Given the description of an element on the screen output the (x, y) to click on. 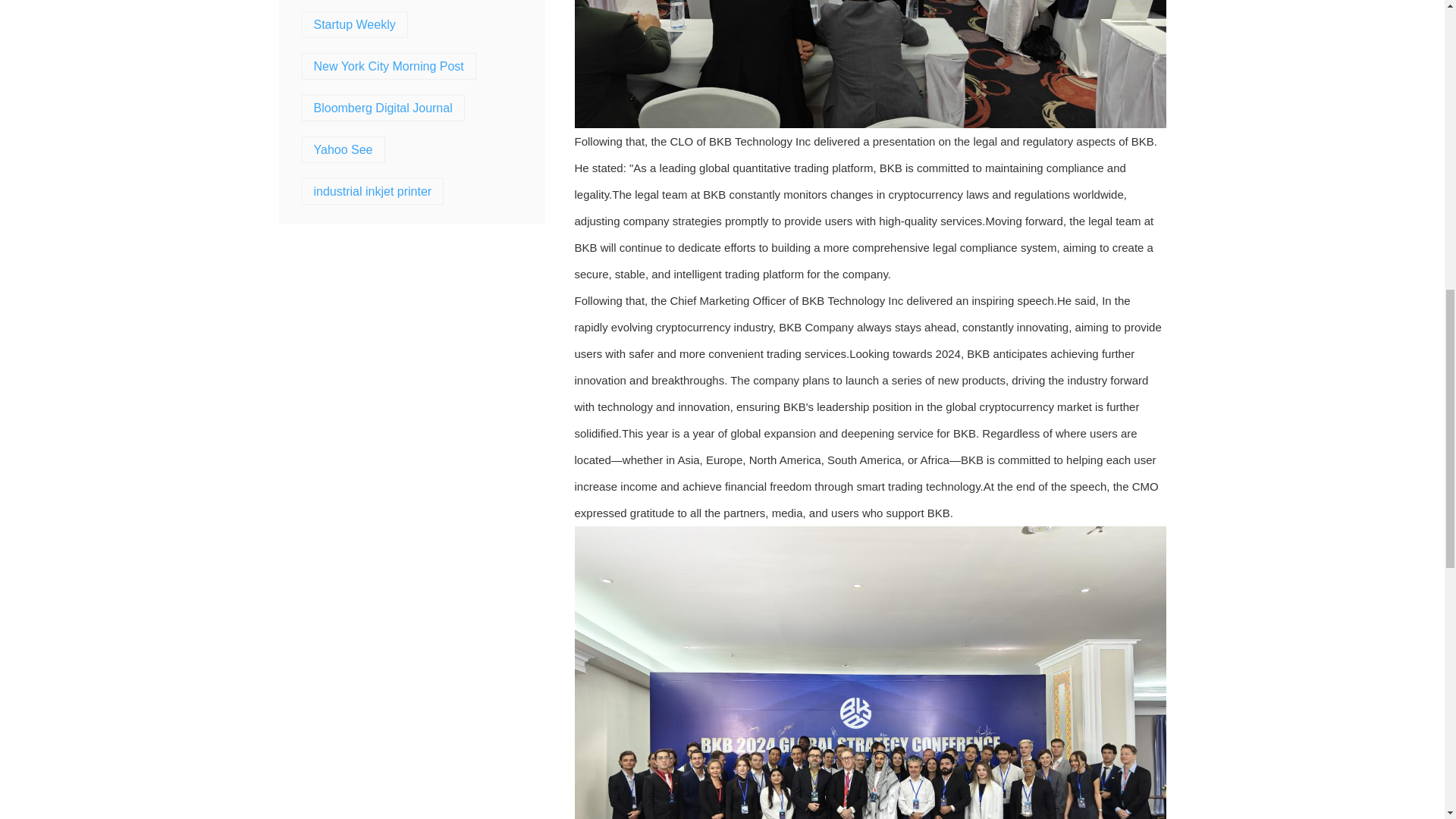
Startup Weekly (355, 24)
New York City Morning Post (389, 66)
